Given the description of an element on the screen output the (x, y) to click on. 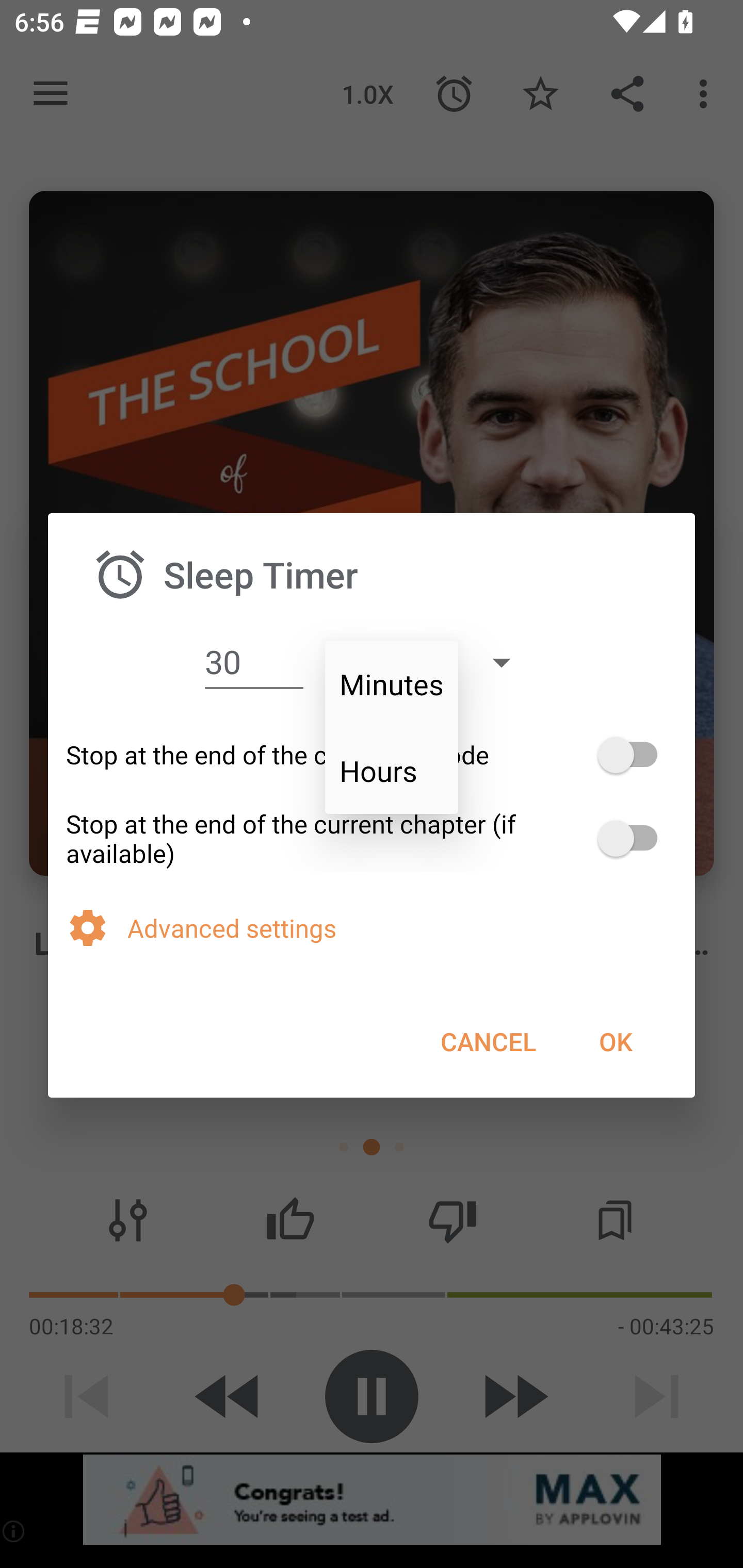
Minutes (391, 684)
Hours (391, 770)
